Given the description of an element on the screen output the (x, y) to click on. 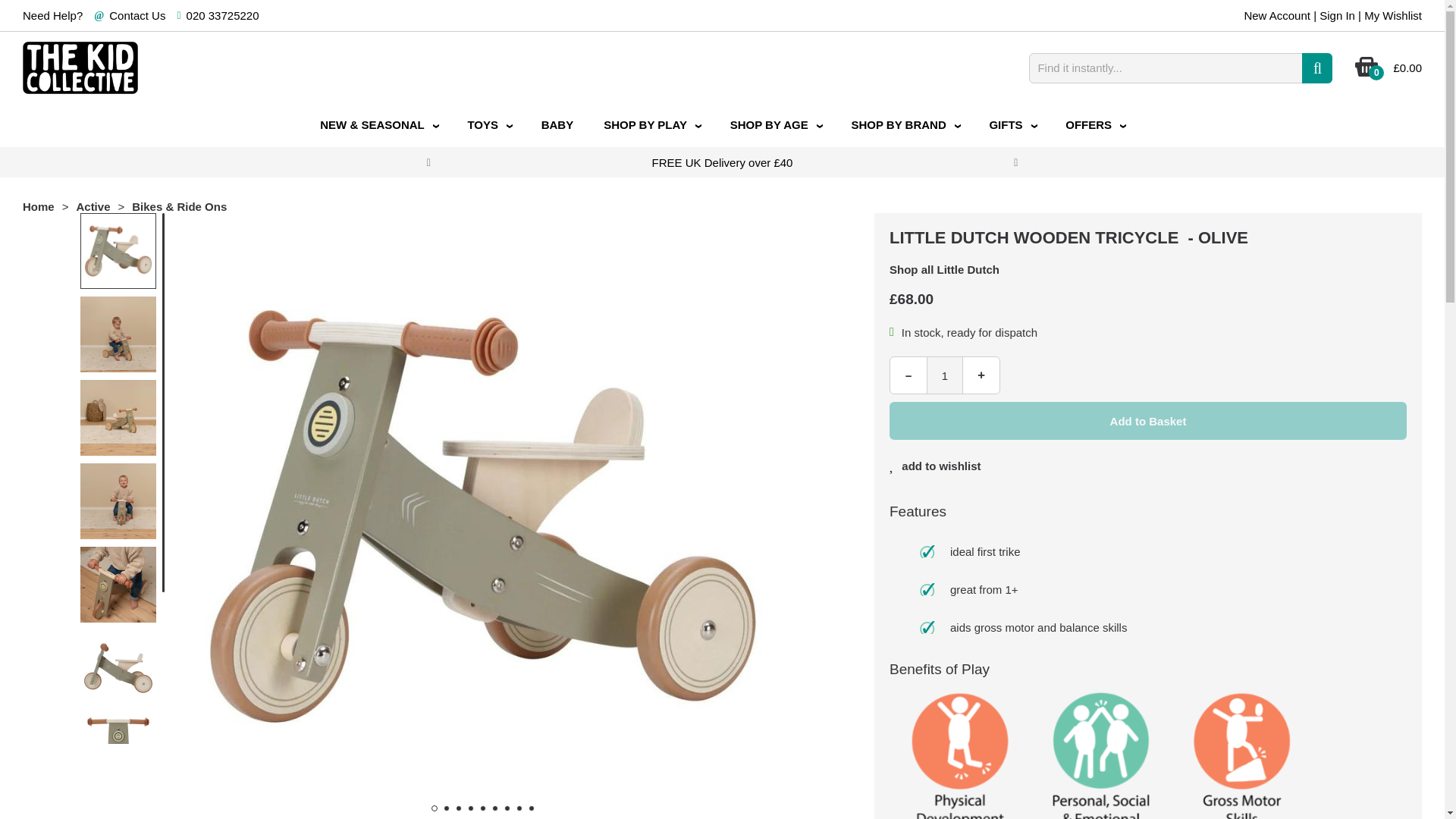
1 (944, 375)
New Account (1276, 15)
020 33725220 (222, 15)
0 (1366, 73)
Go (1316, 68)
Sign In (1337, 15)
Contact Us (137, 15)
TOYS (488, 125)
My Wishlist (1393, 15)
